Given the description of an element on the screen output the (x, y) to click on. 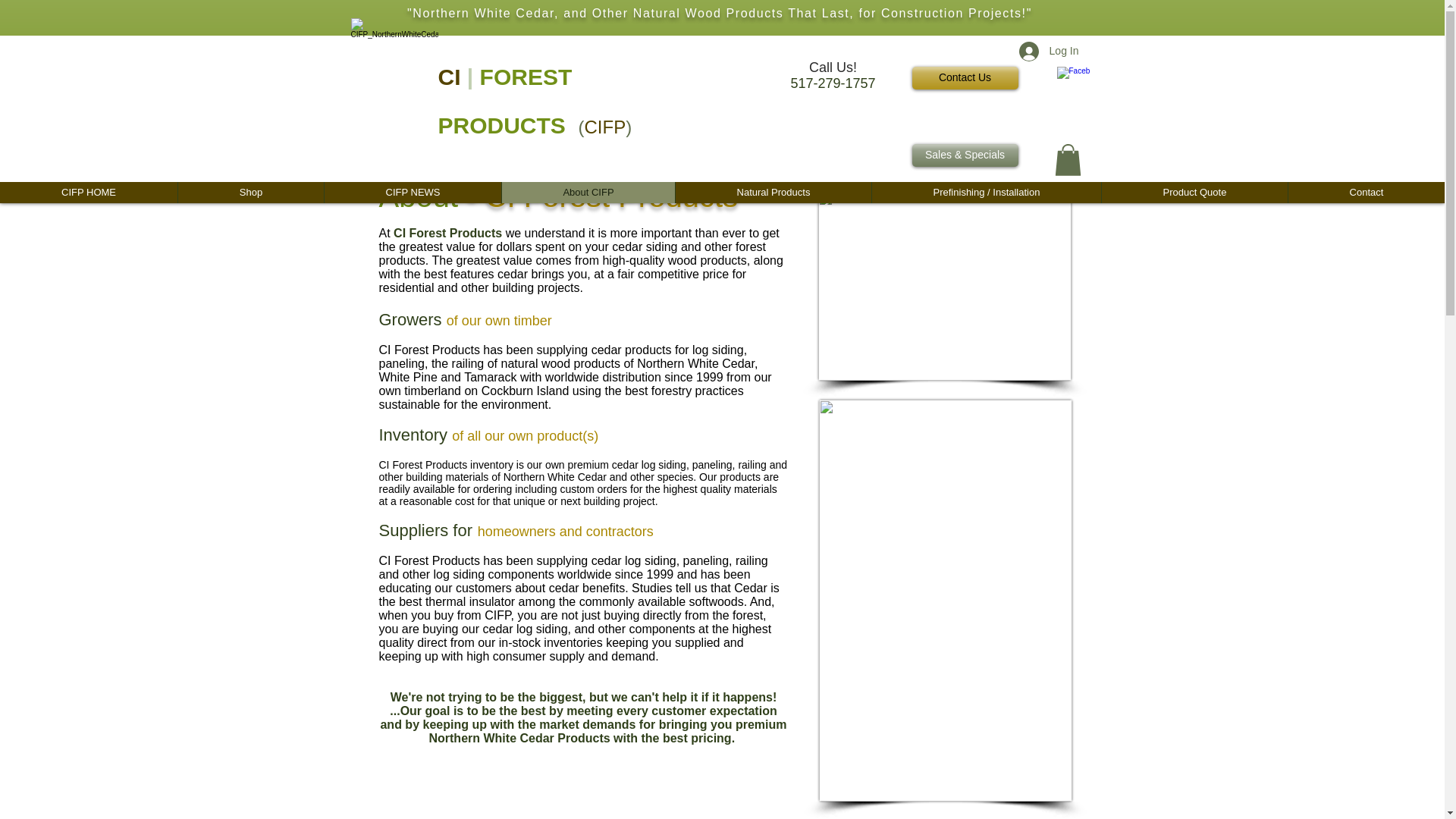
517-279-1757 (832, 83)
Contact Us (964, 77)
Product Quote (1193, 192)
Shop (250, 192)
CIFP NEWS (411, 192)
northern-white-cedar-1.jpg (943, 285)
 FOREST PRODUCTS (505, 101)
Log In (1049, 51)
Natural Products (772, 192)
